Given the description of an element on the screen output the (x, y) to click on. 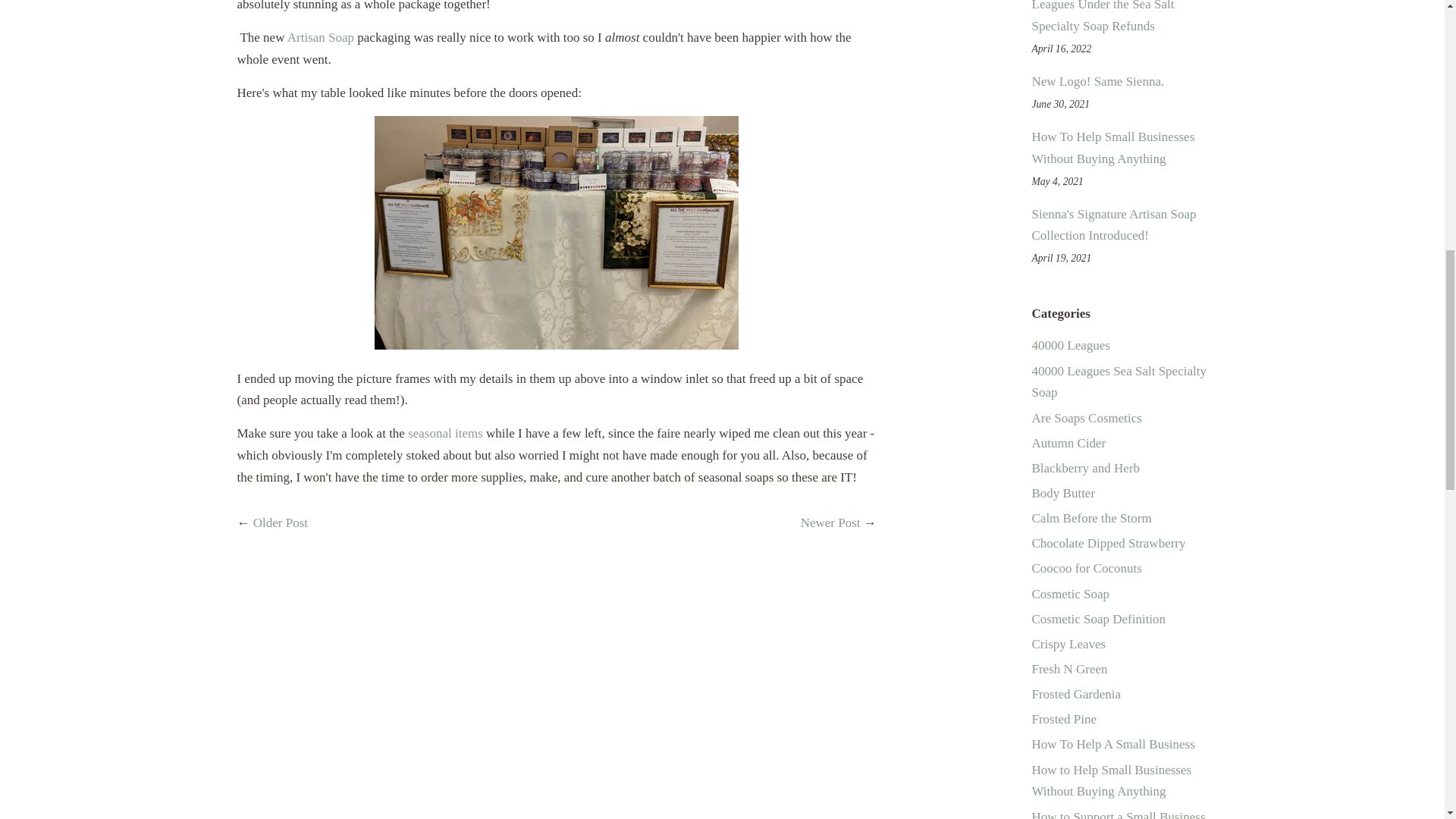
Show articles tagged Are Soaps Cosmetics (1085, 418)
Show articles tagged Cosmetic Soap Definition (1098, 618)
Show articles tagged 40000 Leagues (1069, 345)
Show articles tagged Coocoo for Coconuts (1085, 568)
Show articles tagged Calm Before the Storm (1090, 518)
Show articles tagged Autumn Cider (1067, 442)
Show articles tagged Body Butter (1062, 493)
Show articles tagged Chocolate Dipped Strawberry (1107, 543)
Show articles tagged Blackberry and Herb (1085, 468)
Show articles tagged 40000 Leagues Sea Salt Specialty Soap (1117, 381)
